Given the description of an element on the screen output the (x, y) to click on. 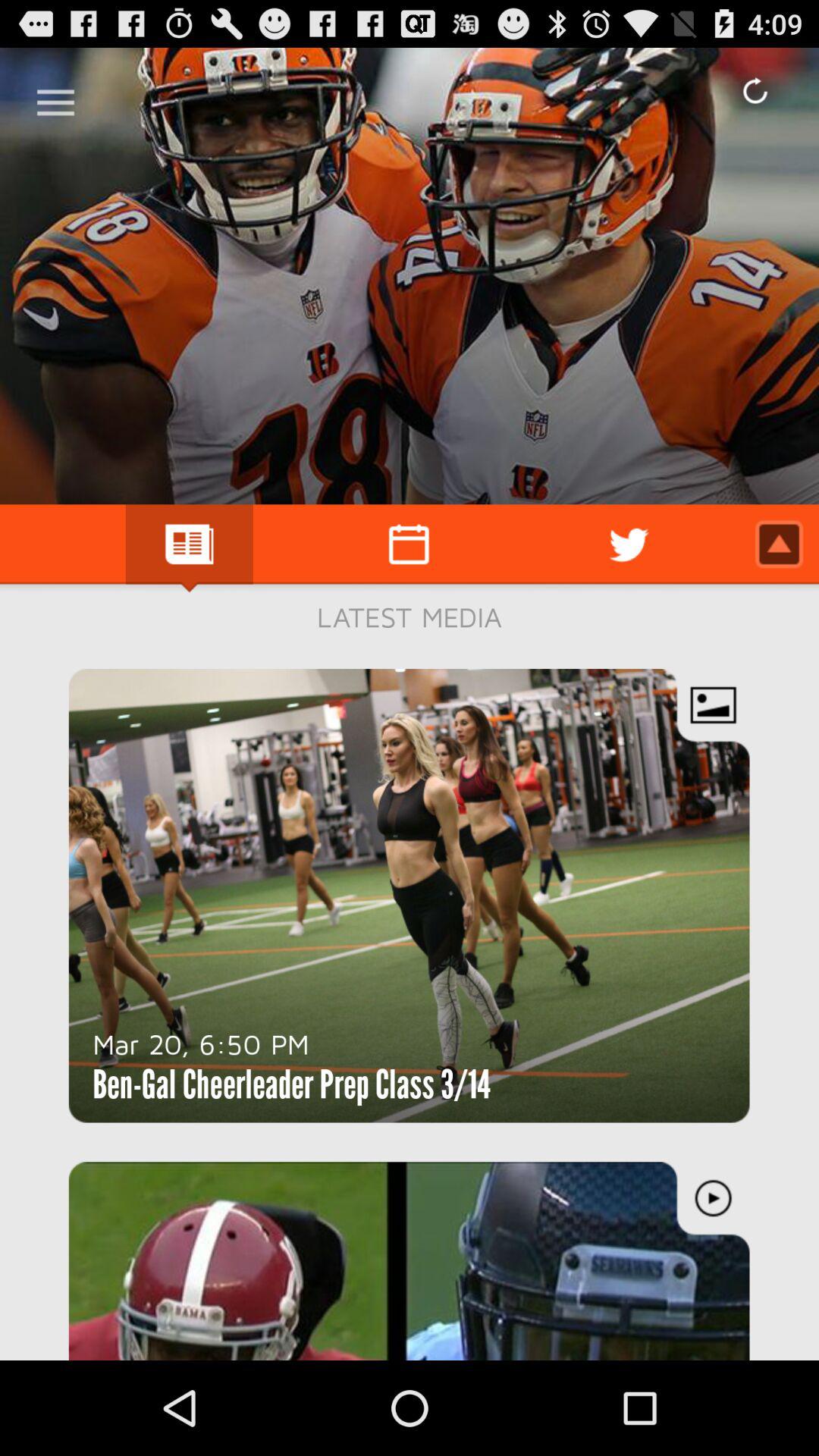
the menu option (55, 97)
